Given the description of an element on the screen output the (x, y) to click on. 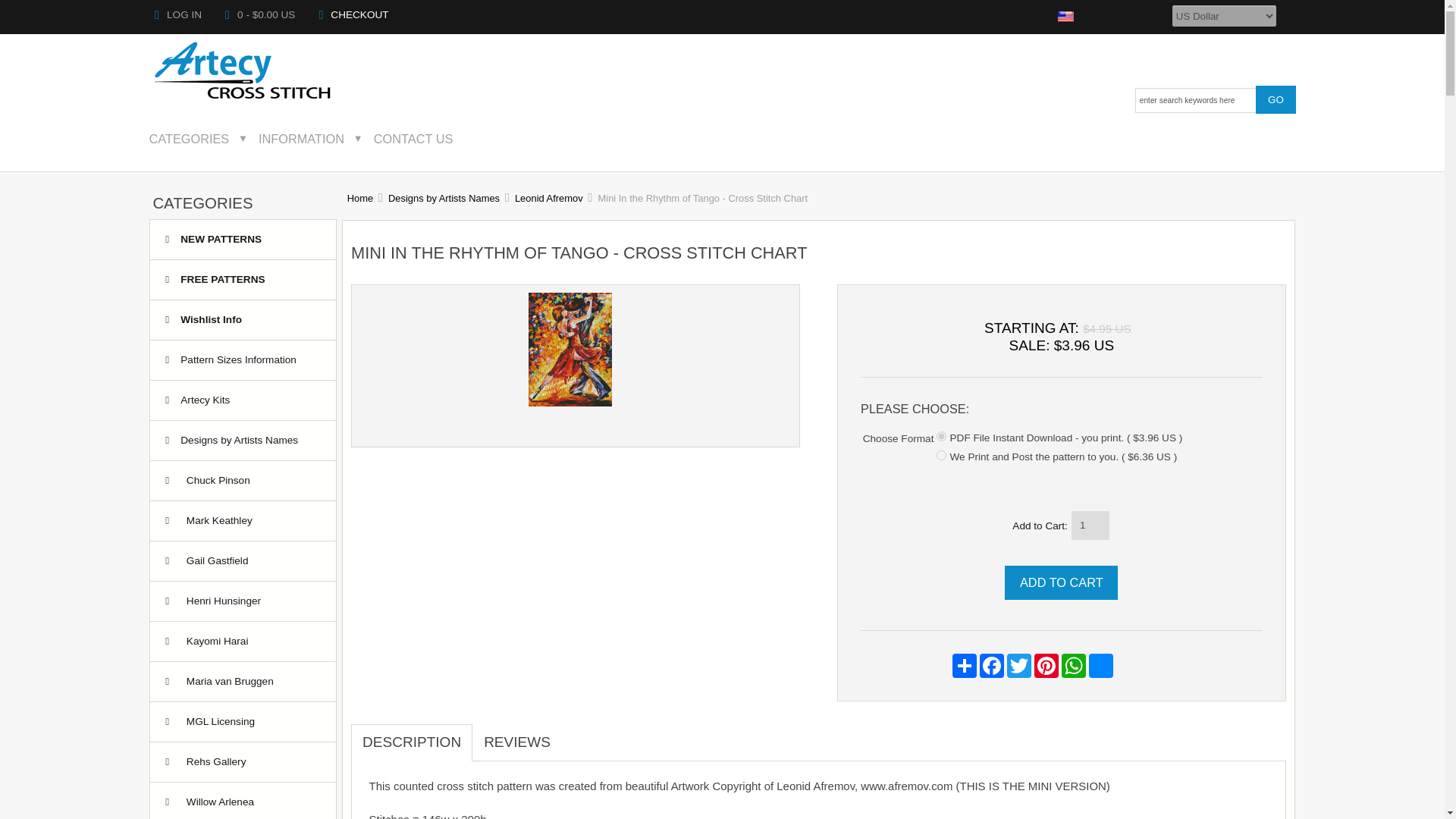
go (1275, 99)
go (1275, 99)
go (1275, 99)
Add to Cart (1061, 582)
English (1066, 16)
CHECKOUT (353, 14)
LOG IN (177, 14)
1 (941, 436)
CATEGORIES (199, 138)
Mini In the Rhythm of Tango - Cross Stitch Chart (569, 402)
